Given the description of an element on the screen output the (x, y) to click on. 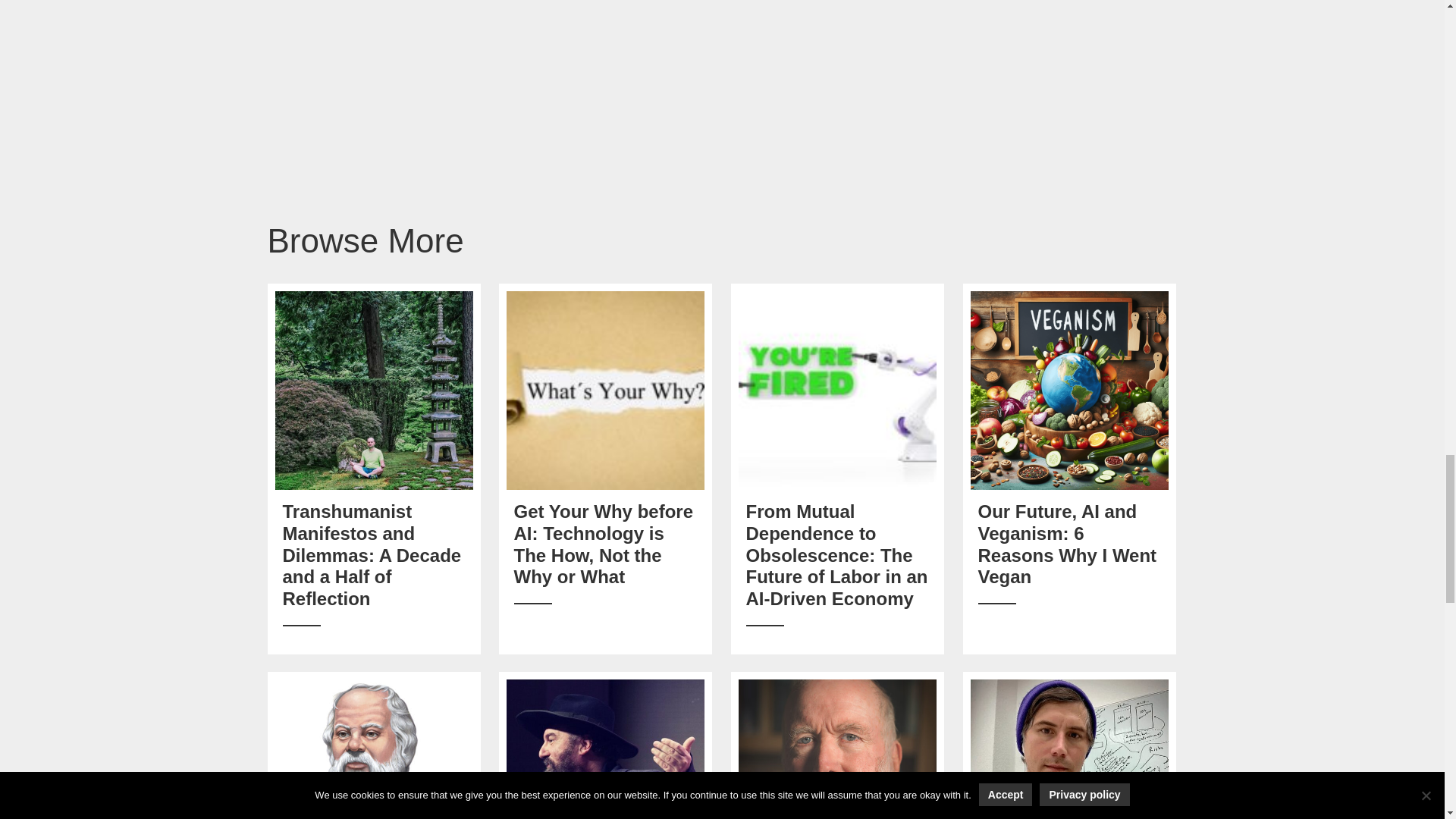
YouTube video player (722, 20)
Why I went Vegan (1070, 390)
